Given the description of an element on the screen output the (x, y) to click on. 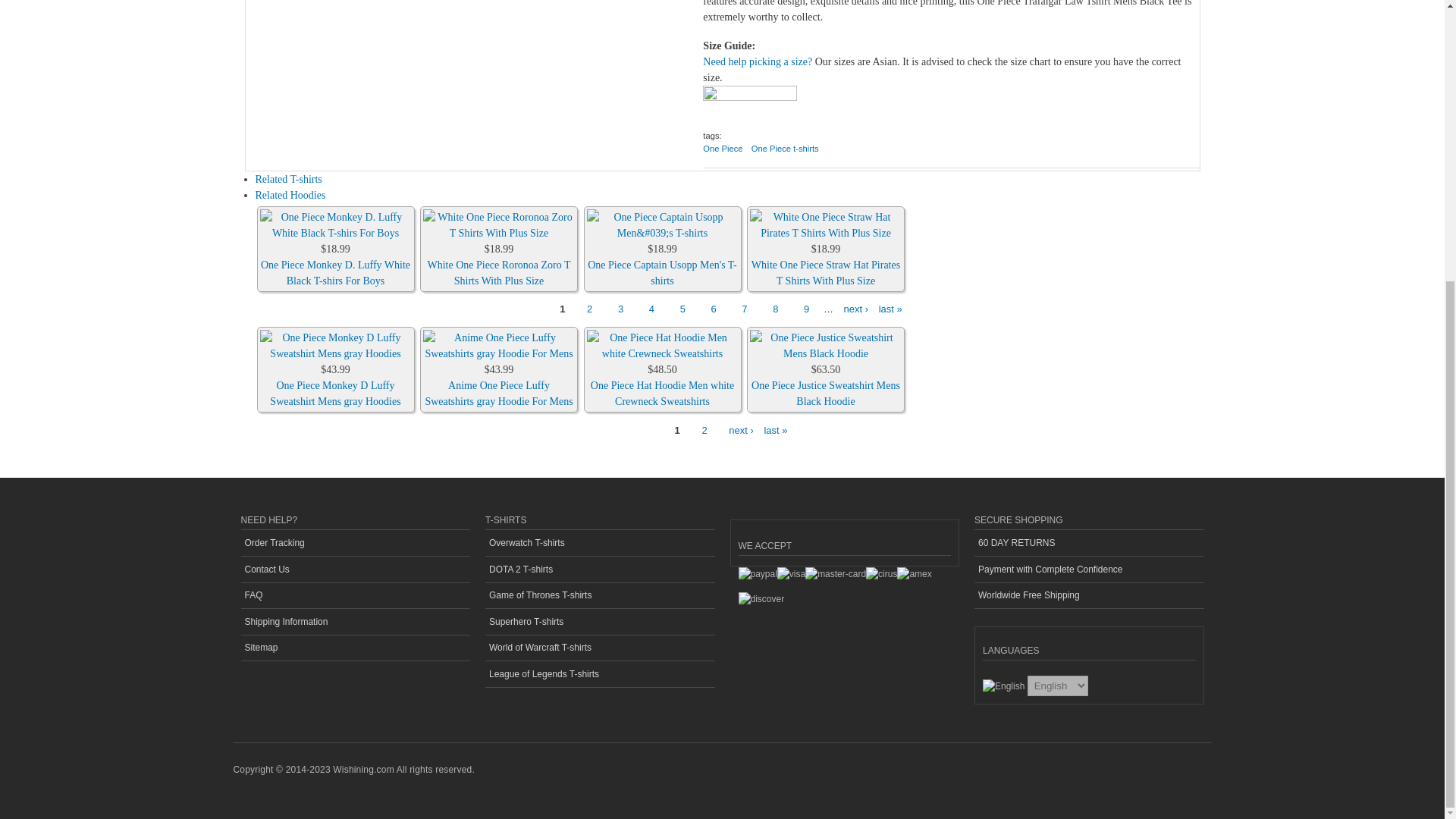
White One Piece Straw Hat Pirates T Shirts With Plus Size (825, 272)
One Piece Monkey D. Luffy White Black T-shirs For Boys (334, 224)
Go to page 4 (651, 309)
Go to page 5 (682, 309)
One Piece t-shirts (784, 154)
Need help picking a size? (758, 61)
One Piece Monkey D. Luffy White Black T-shirs For Boys (335, 272)
6 (712, 309)
2 (589, 309)
4 (651, 309)
